Given the description of an element on the screen output the (x, y) to click on. 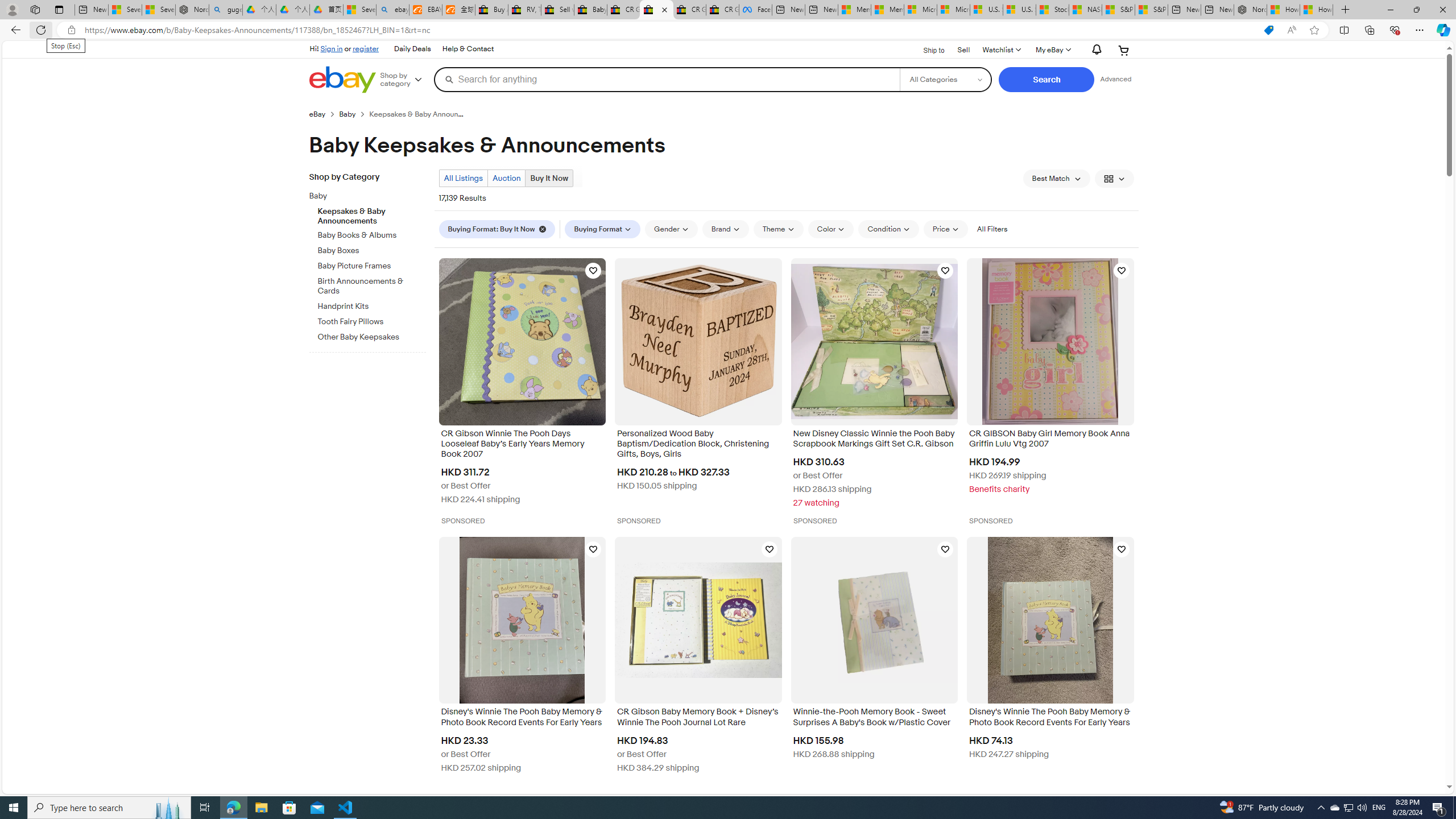
WatchlistExpand Watch List (1000, 49)
Watchlist (1000, 49)
RV, Trailer & Camper Steps & Ladders for sale | eBay (524, 9)
Keepsakes & Baby Announcements (371, 214)
Your shopping cart (1123, 49)
Notifications (1093, 49)
Tab actions menu (58, 9)
Brand (724, 229)
My eBay (1052, 49)
All Listings (463, 178)
This site has coupons! Shopping in Microsoft Edge (1268, 29)
